Given the description of an element on the screen output the (x, y) to click on. 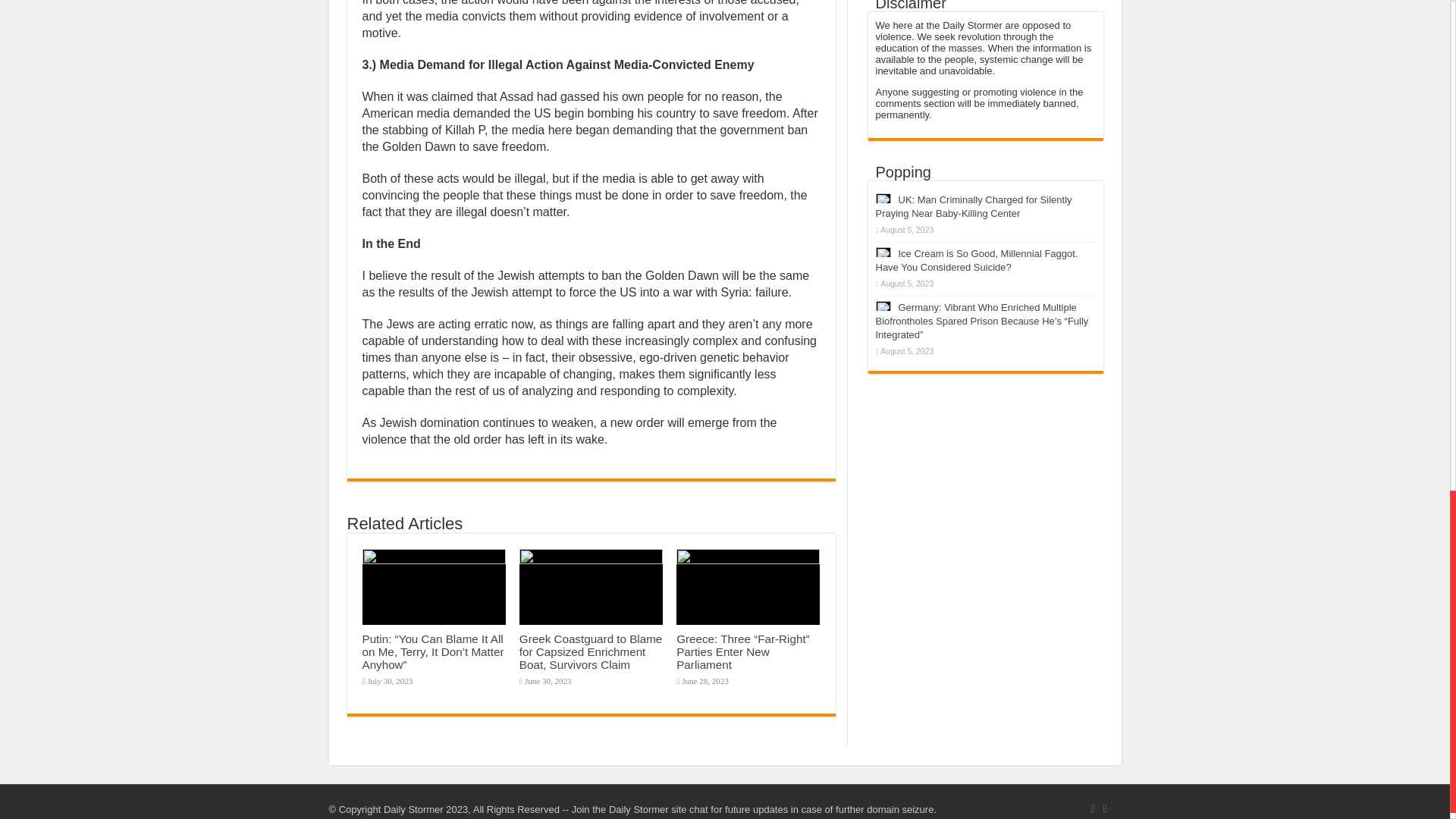
Daily Stormer site chat (657, 808)
vk.com (1104, 809)
Forrst (1092, 809)
